Given the description of an element on the screen output the (x, y) to click on. 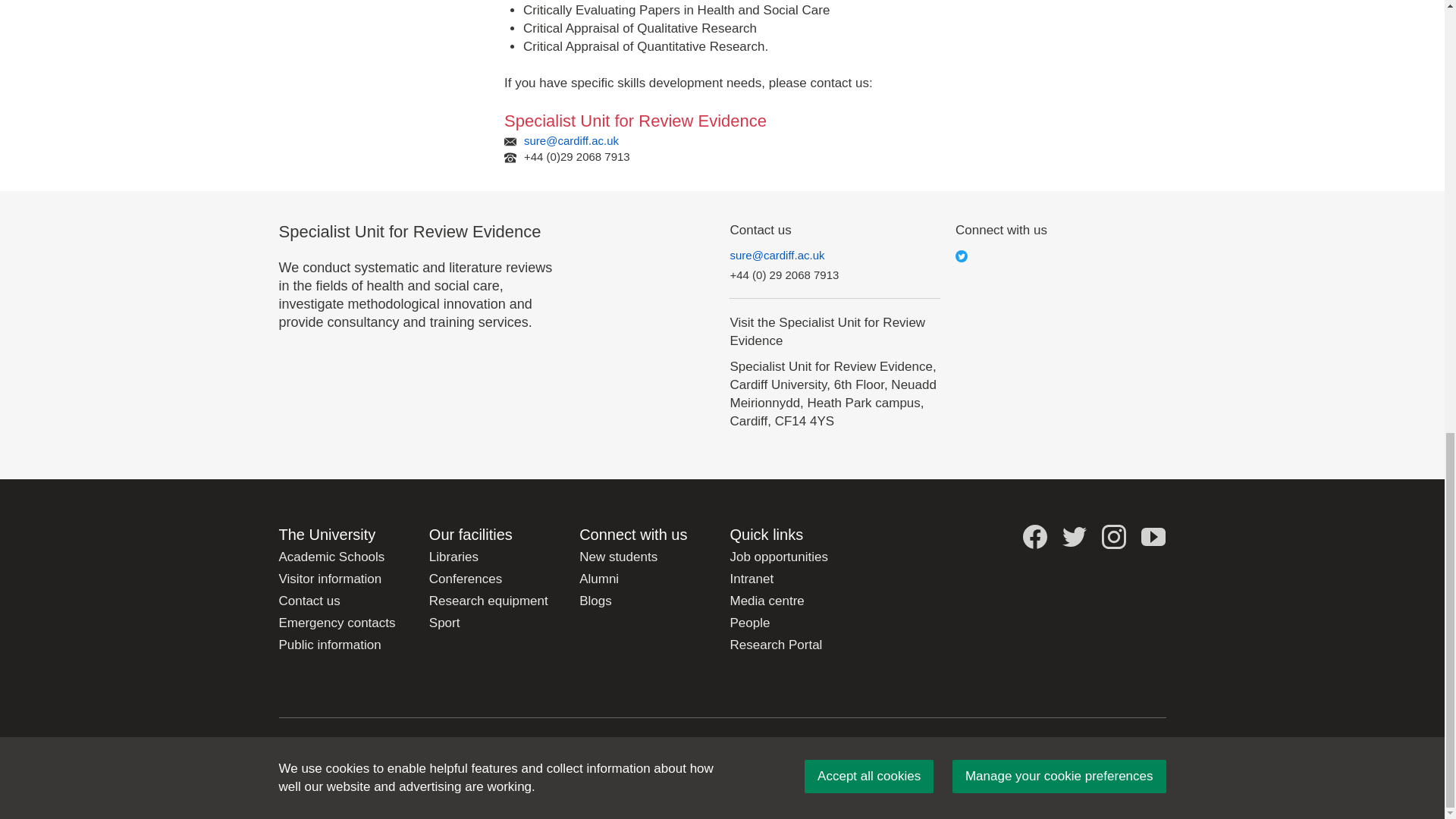
facebook (1034, 536)
Youtube (1153, 536)
twitter no background icon (1074, 536)
instagram (1113, 536)
Twitter (961, 256)
Email (509, 141)
Telephone (509, 157)
